Given the description of an element on the screen output the (x, y) to click on. 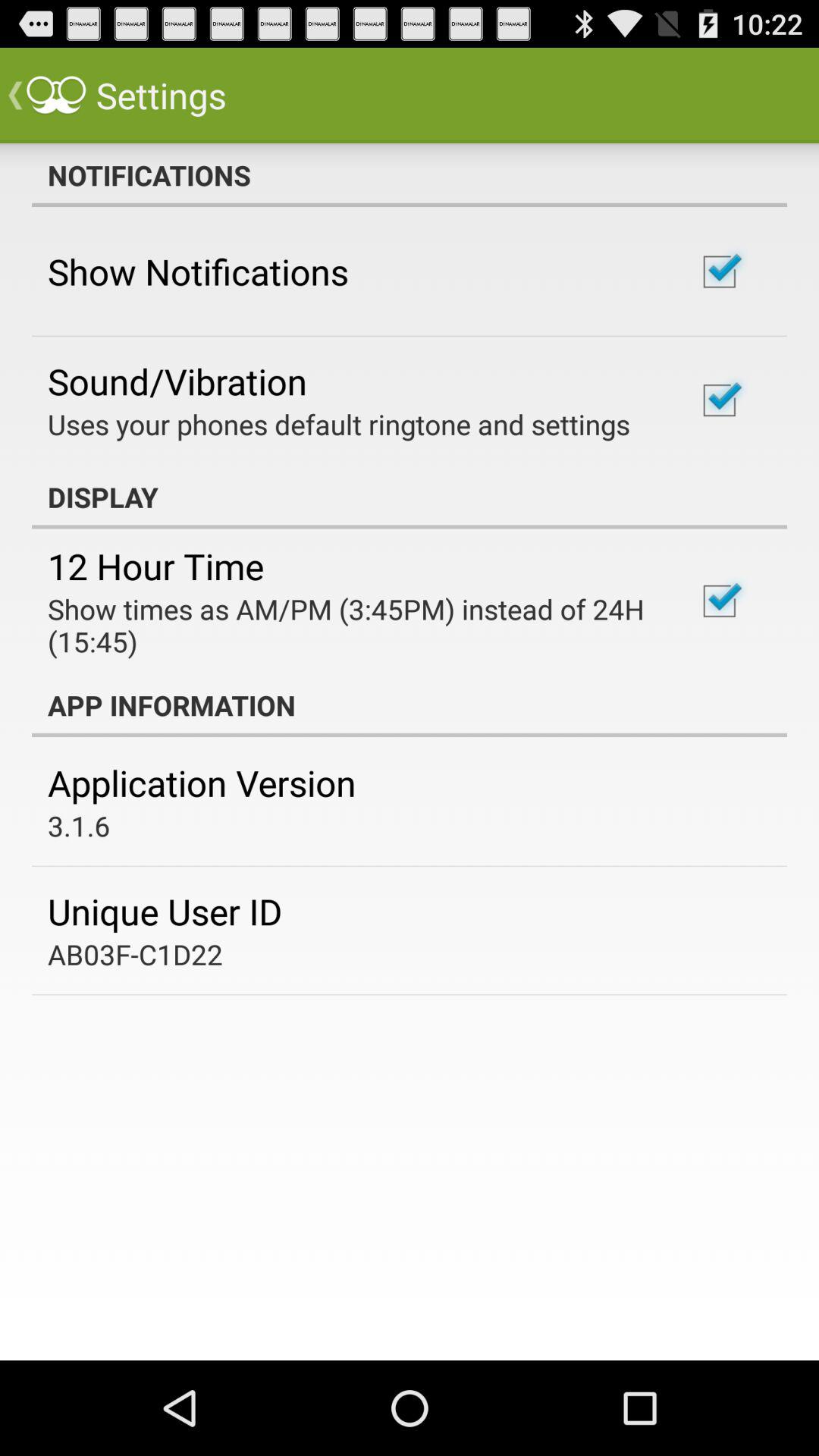
jump until the show notifications item (197, 271)
